Given the description of an element on the screen output the (x, y) to click on. 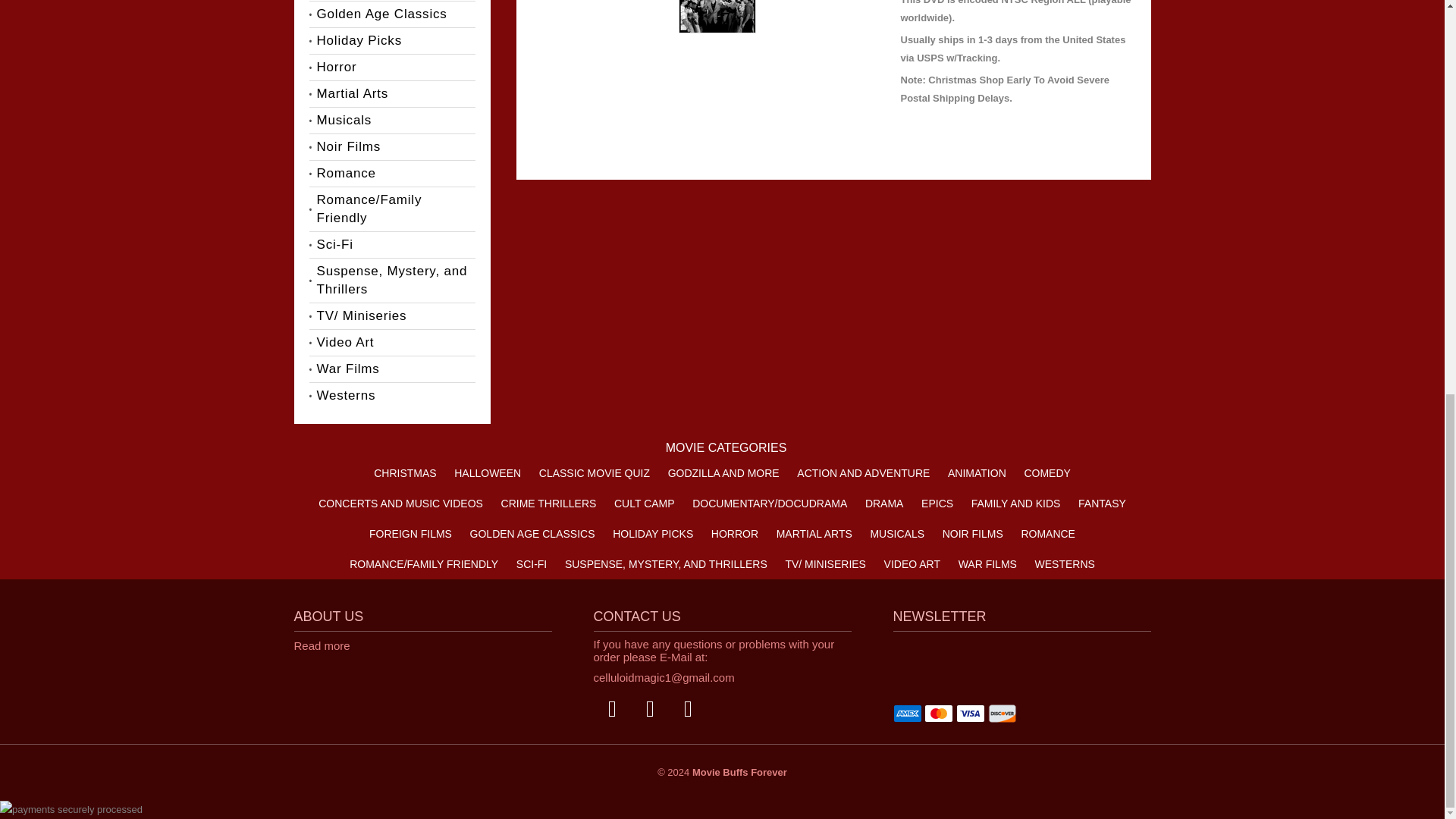
American Express (907, 713)
Mastercard (938, 713)
Visa (970, 713)
